Given the description of an element on the screen output the (x, y) to click on. 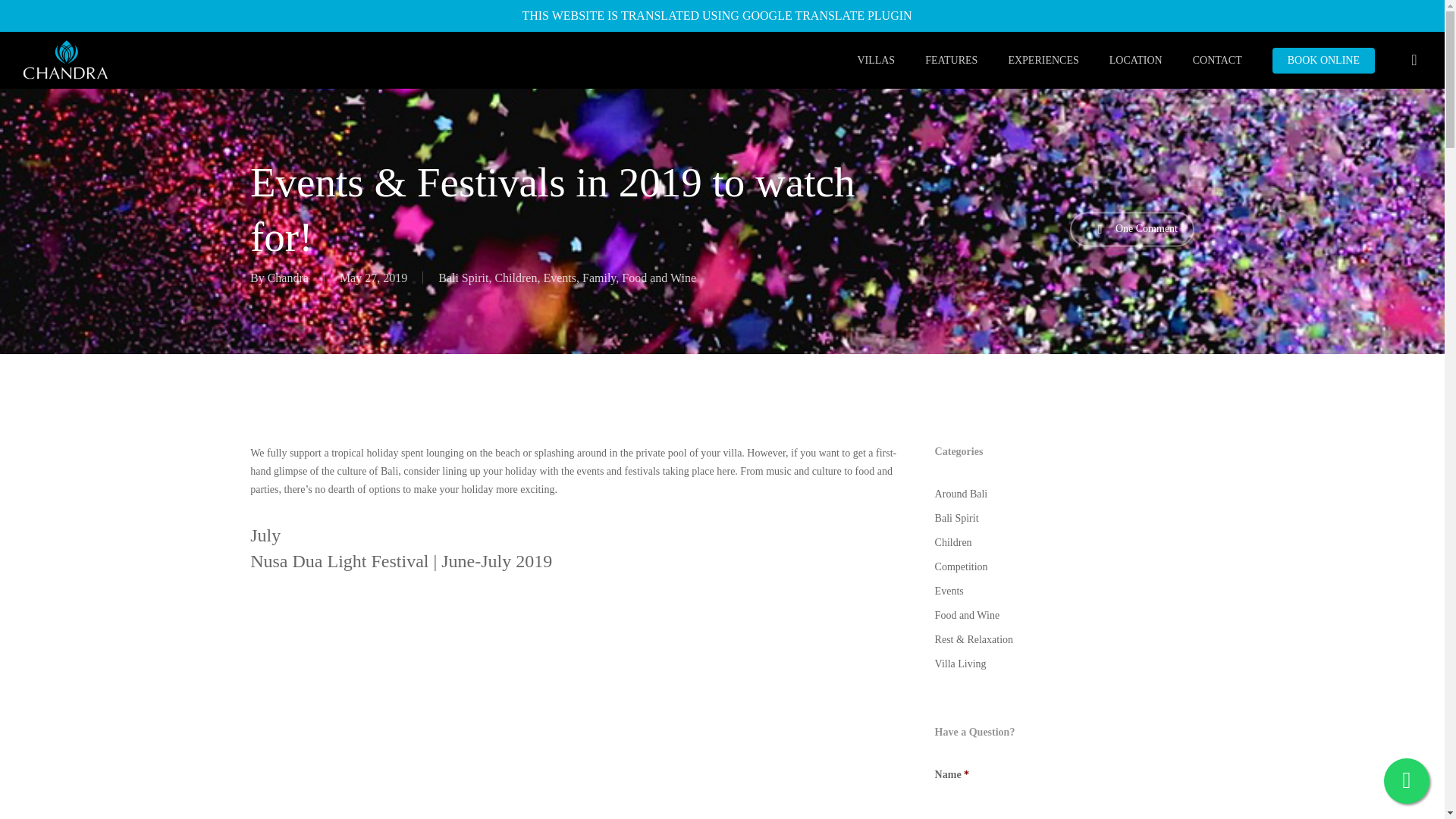
VILLAS (875, 60)
CONTACT (1217, 60)
LOCATION (1135, 60)
BOOK ONLINE (1323, 60)
FEATURES (951, 60)
Posts by Chandra (287, 277)
search (1414, 59)
EXPERIENCES (1042, 60)
